Given the description of an element on the screen output the (x, y) to click on. 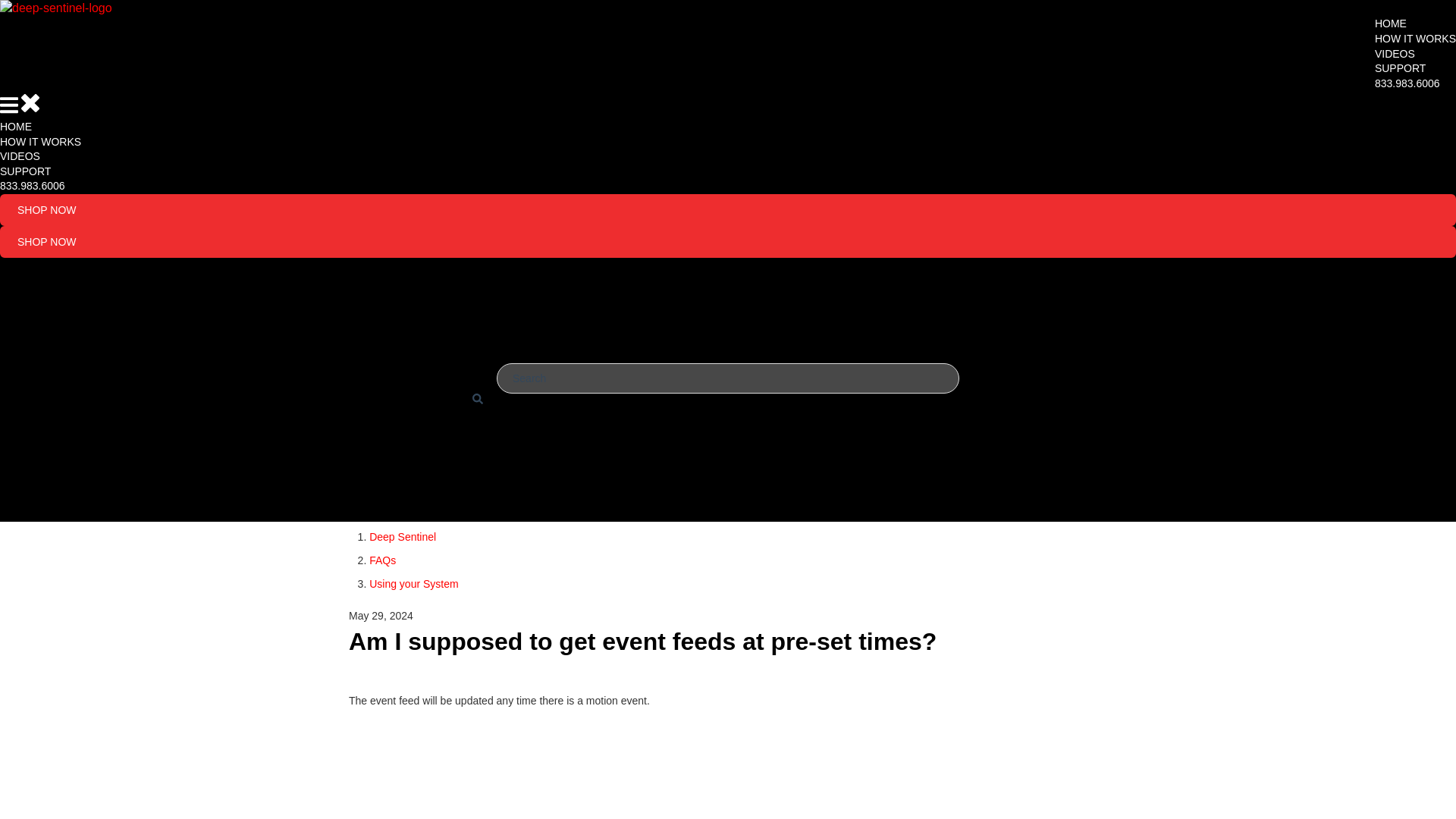
HOME (16, 126)
833.983.6006 (1406, 82)
833.983.6006 (32, 185)
SUPPORT (25, 171)
HOME (1390, 23)
Deep Sentinel (402, 536)
VIDEOS (1394, 53)
FAQs (382, 560)
Open main navigation (8, 107)
VIDEOS (20, 155)
Using your System (413, 583)
Close main navigation (30, 104)
SUPPORT (1399, 68)
HOW IT WORKS (40, 141)
